Given the description of an element on the screen output the (x, y) to click on. 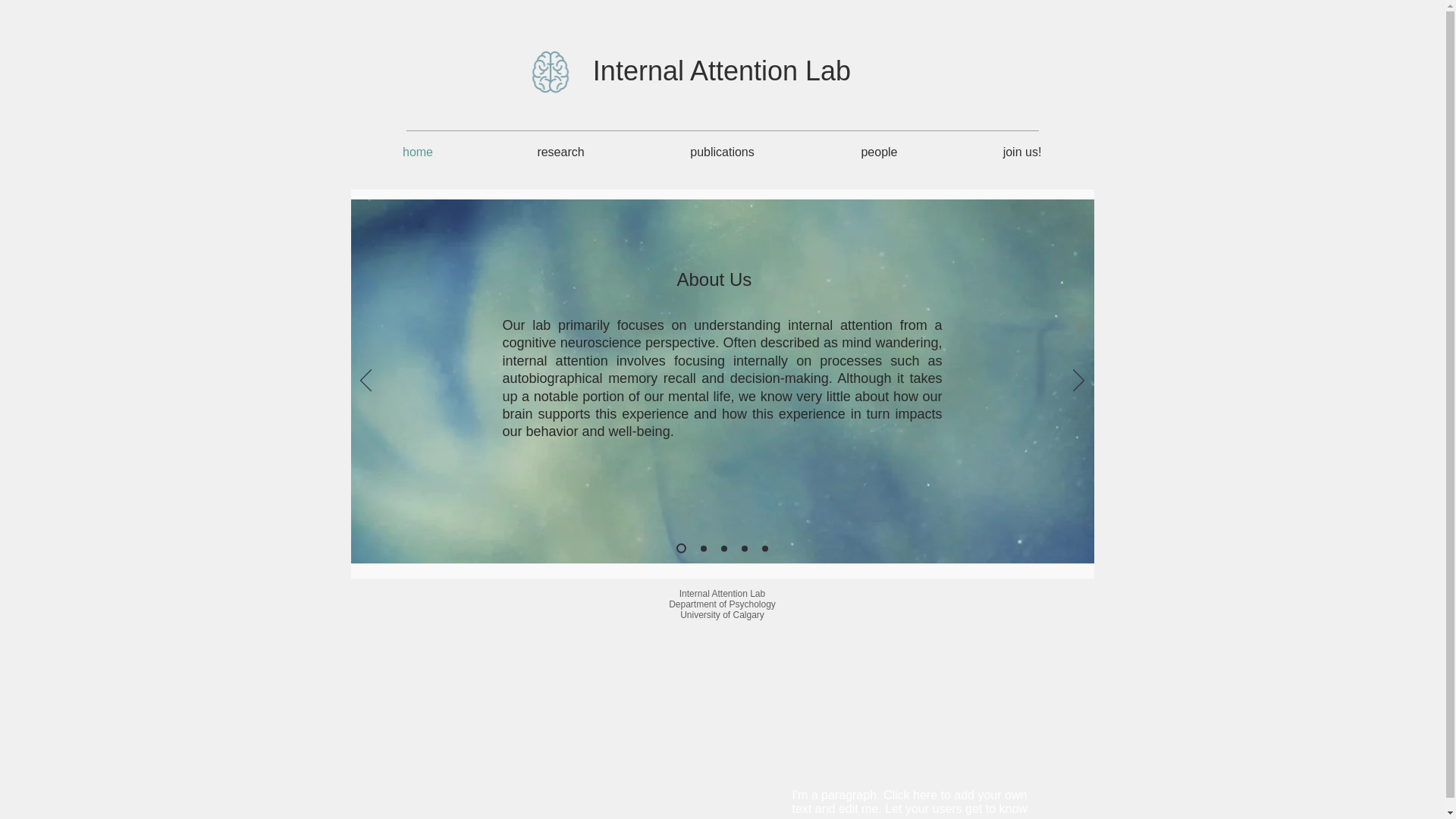
join us! (1022, 151)
publications (722, 151)
home (417, 151)
research (560, 151)
Internal Attention Lab (721, 70)
people (879, 151)
